Given the description of an element on the screen output the (x, y) to click on. 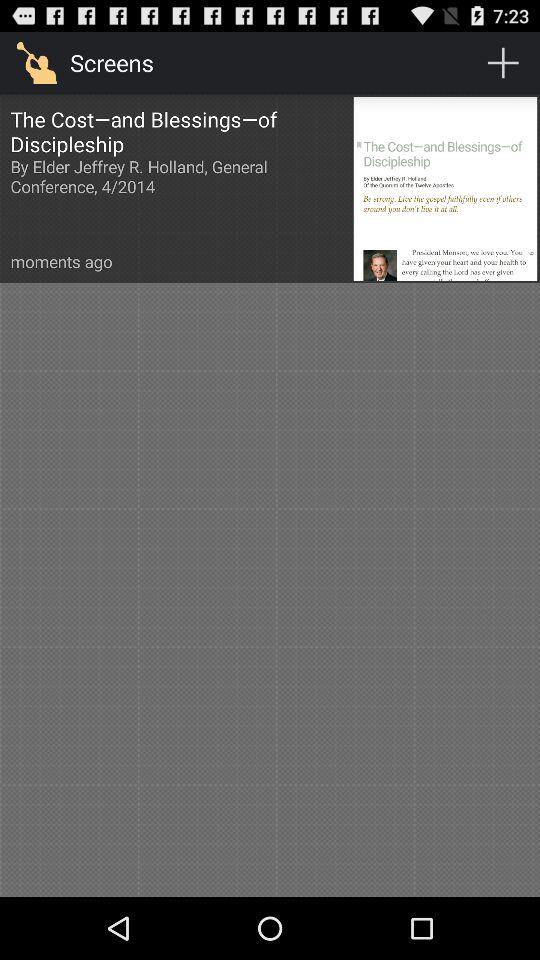
choose the item next to screens (503, 62)
